Given the description of an element on the screen output the (x, y) to click on. 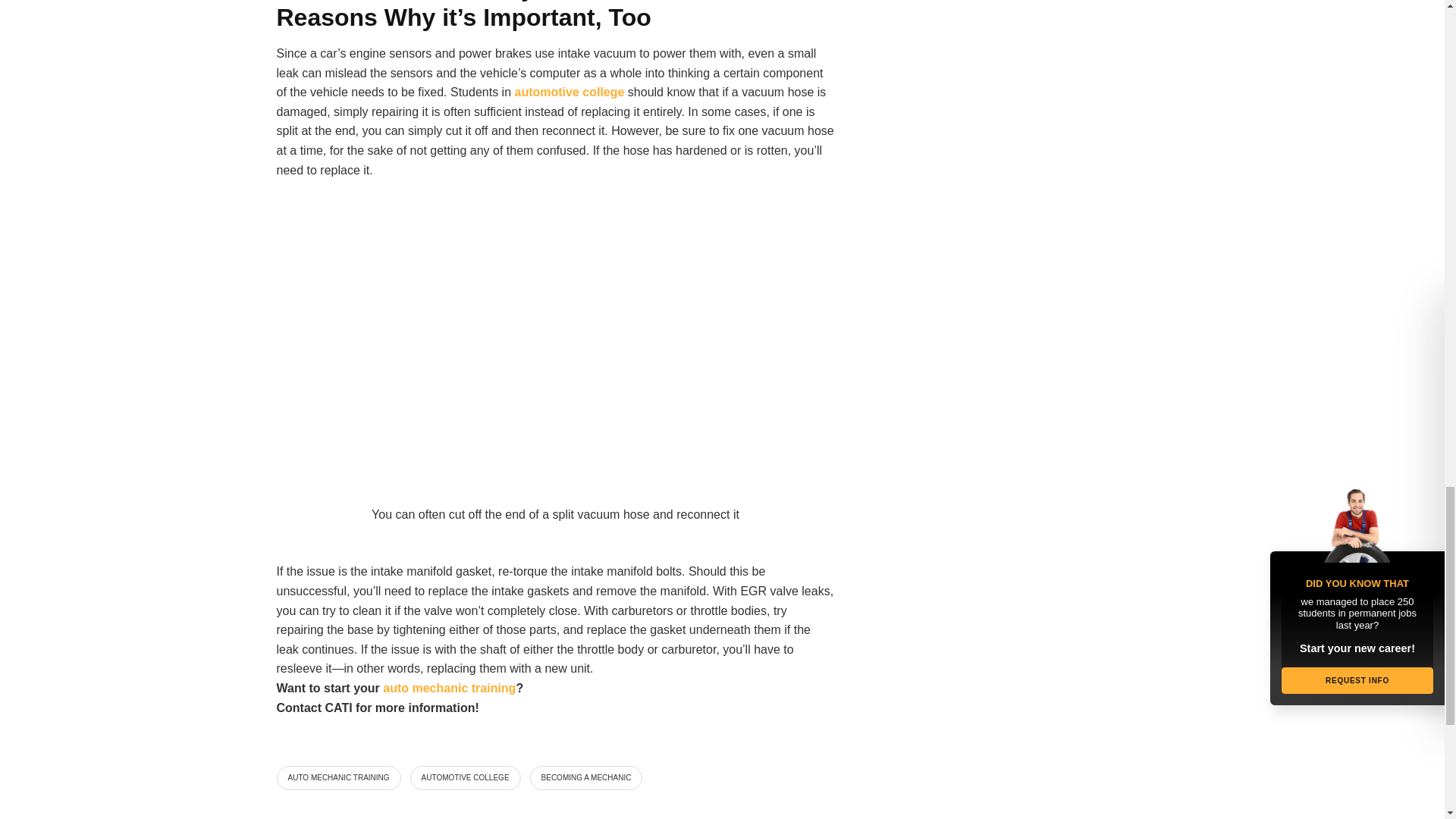
AUTOMOTIVE COLLEGE (465, 777)
BECOMING A MECHANIC (586, 777)
AUTO MECHANIC TRAINING (338, 777)
auto mechanic training (448, 687)
automotive college (568, 91)
